Given the description of an element on the screen output the (x, y) to click on. 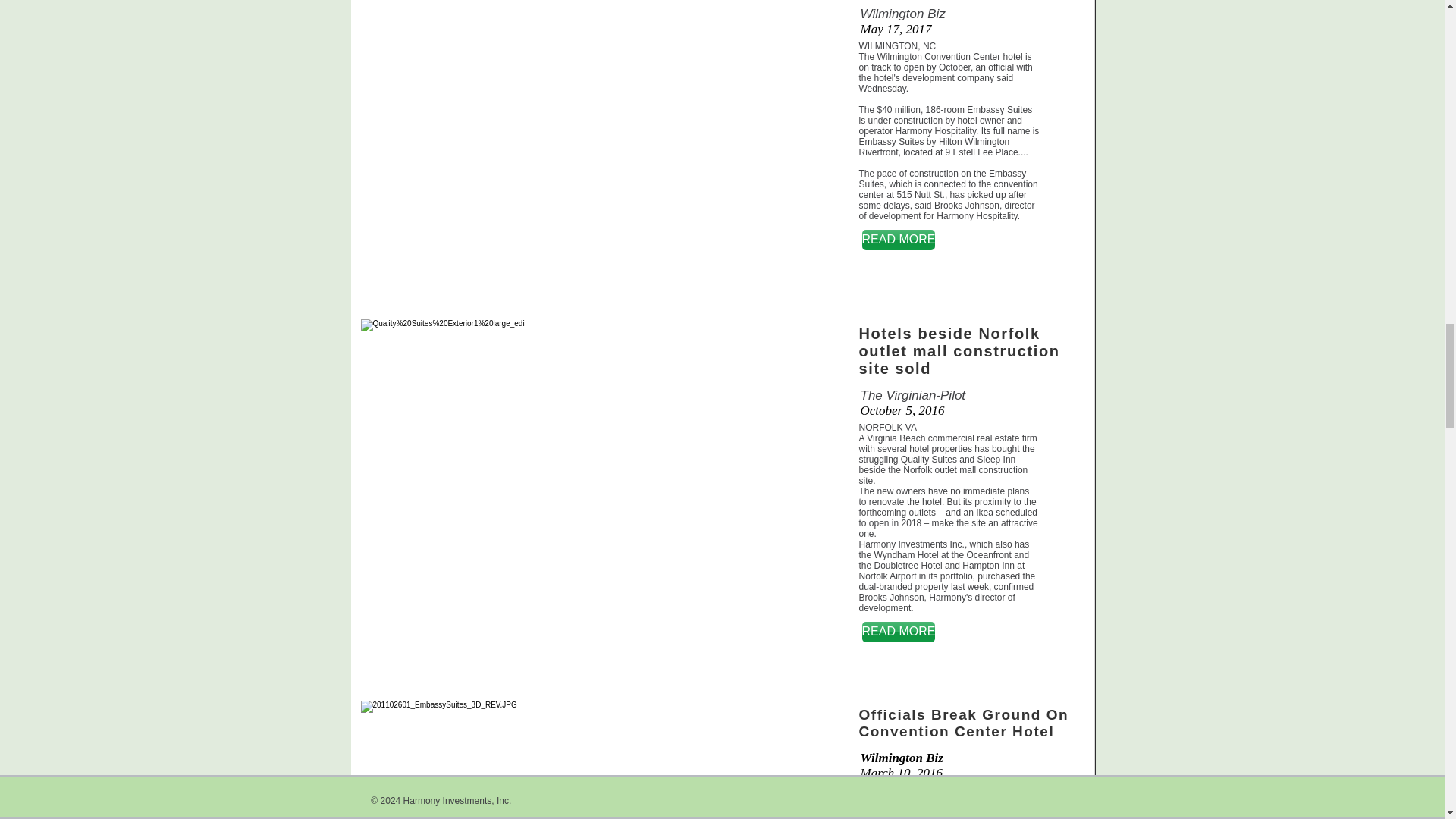
READ MORE (897, 631)
READ MORE (897, 240)
